Given the description of an element on the screen output the (x, y) to click on. 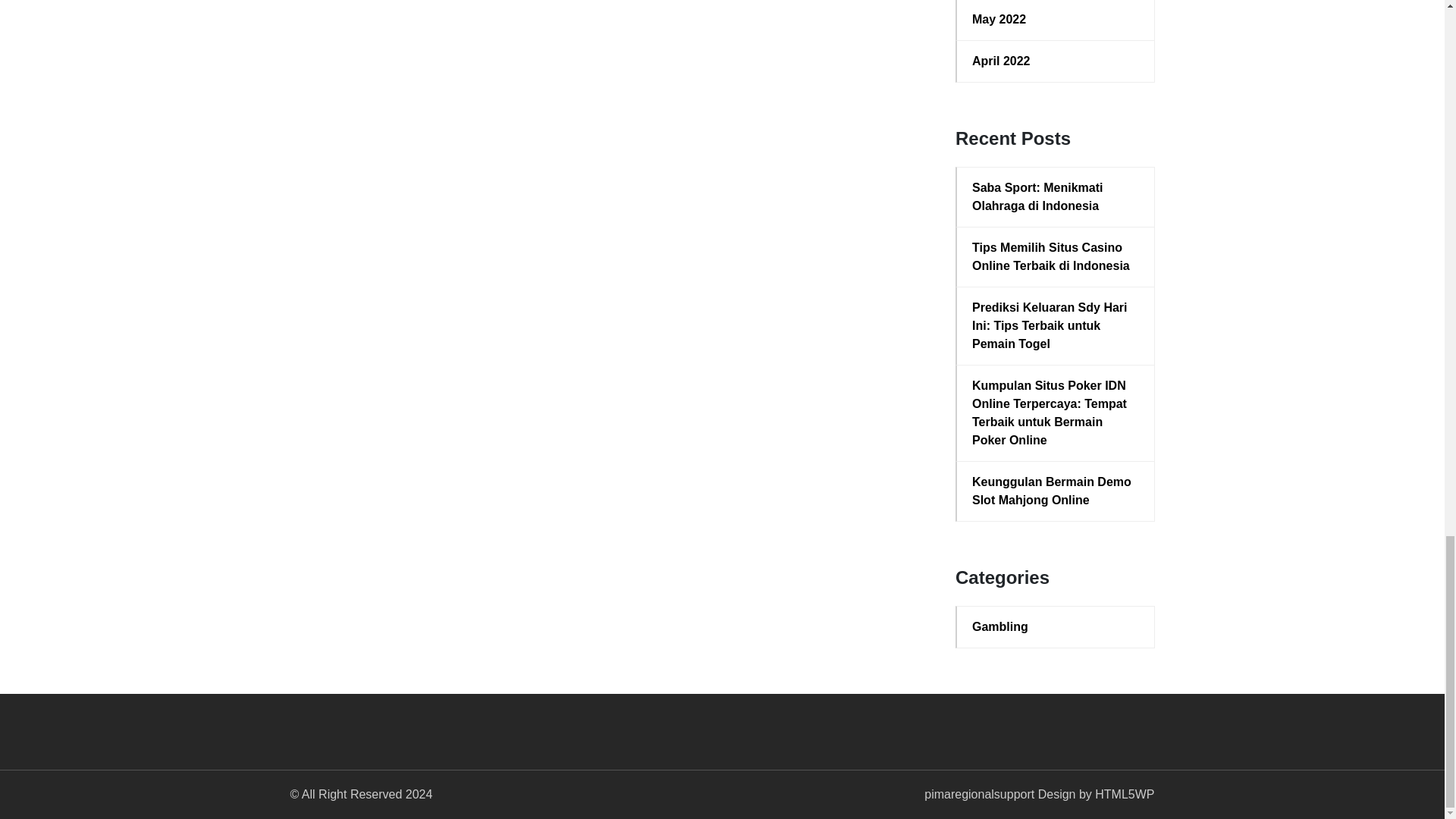
April 2022 (1055, 61)
May 2022 (1055, 19)
Saba Sport: Menikmati Olahraga di Indonesia (1055, 197)
